Given the description of an element on the screen output the (x, y) to click on. 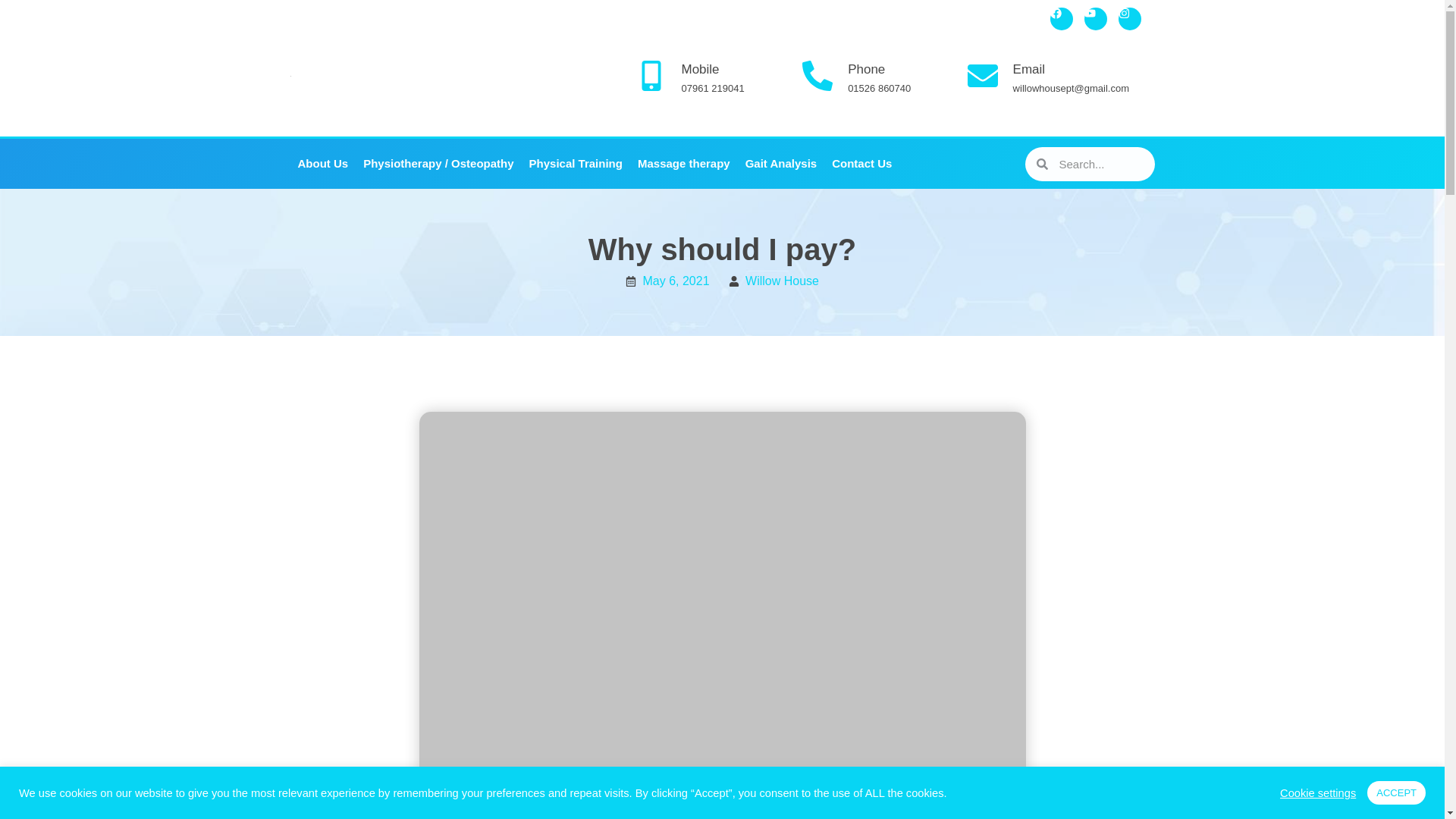
Gait Analysis (781, 163)
Physical Training (575, 163)
Massage therapy (684, 163)
Contact Us (861, 163)
Email (1029, 69)
About Us (322, 163)
